Given the description of an element on the screen output the (x, y) to click on. 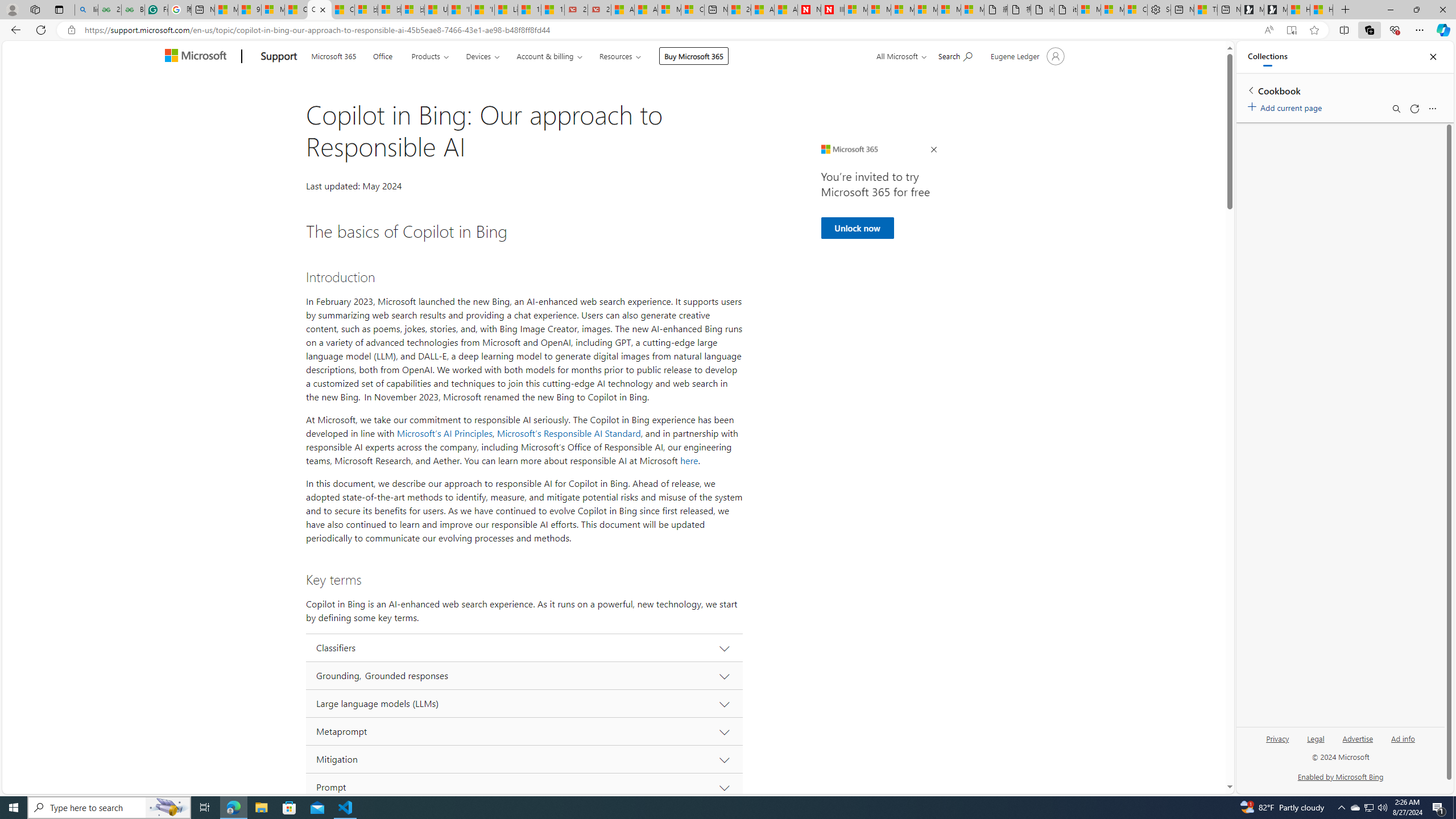
Cloud Computing Services | Microsoft Azure (692, 9)
Close Ad (933, 149)
Buy Microsoft 365 (693, 55)
USA TODAY - MSN (435, 9)
Office (382, 54)
Three Ways To Stop Sweating So Much (1205, 9)
